Given the description of an element on the screen output the (x, y) to click on. 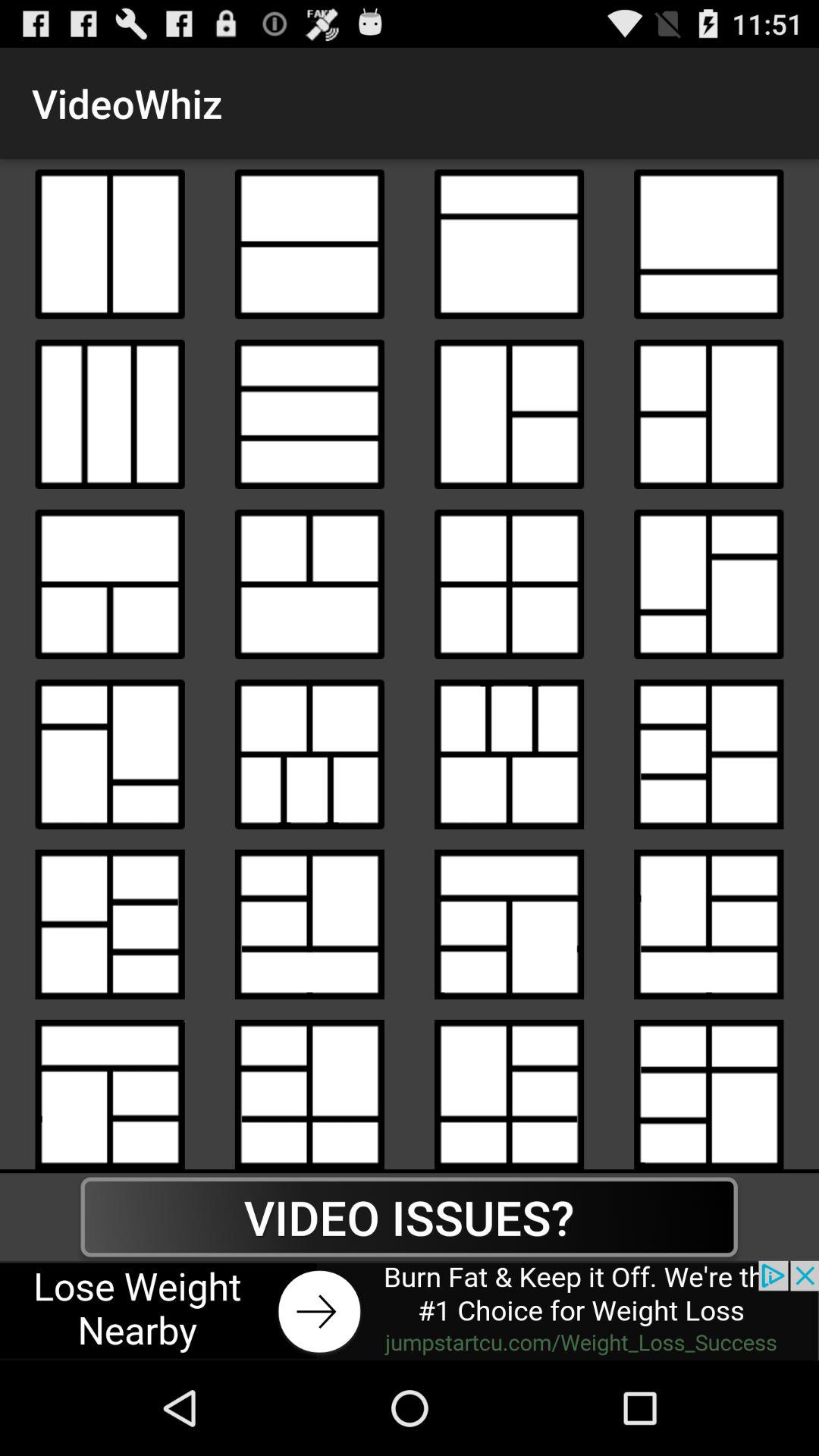
collage model box (509, 754)
